Given the description of an element on the screen output the (x, y) to click on. 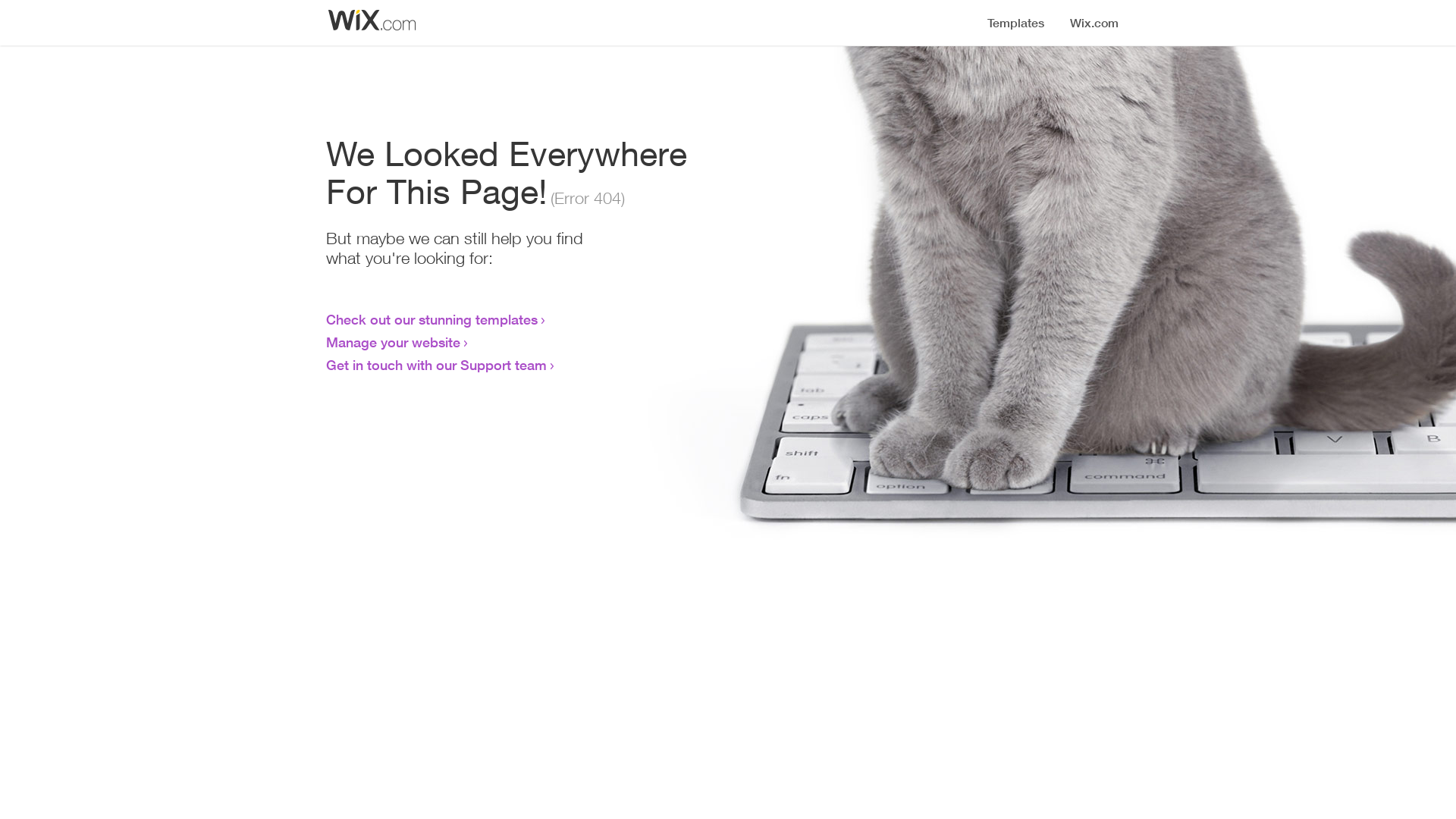
Get in touch with our Support team Element type: text (436, 364)
Manage your website Element type: text (393, 341)
Check out our stunning templates Element type: text (431, 318)
